Given the description of an element on the screen output the (x, y) to click on. 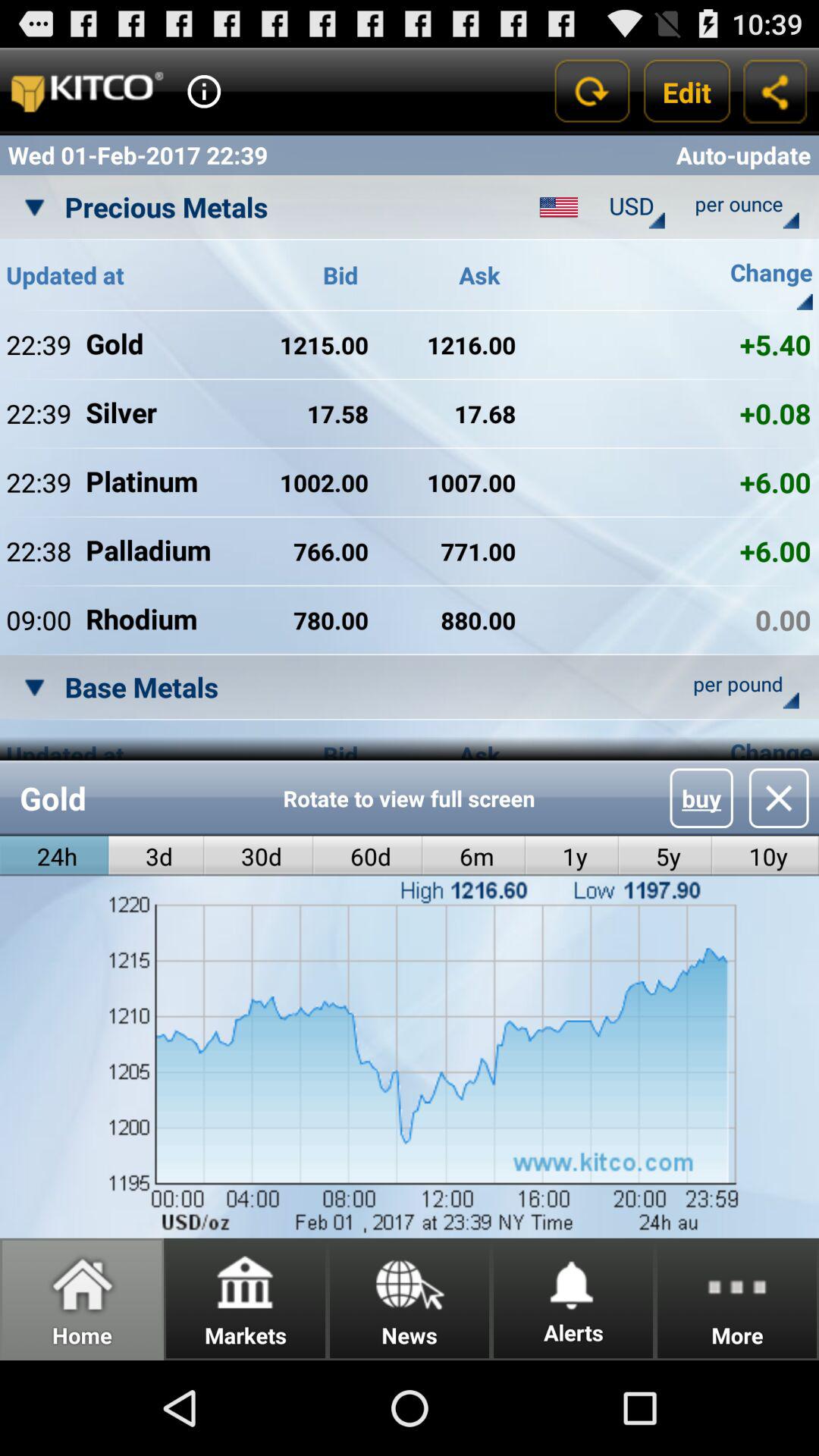
flip to 60d item (367, 856)
